Given the description of an element on the screen output the (x, y) to click on. 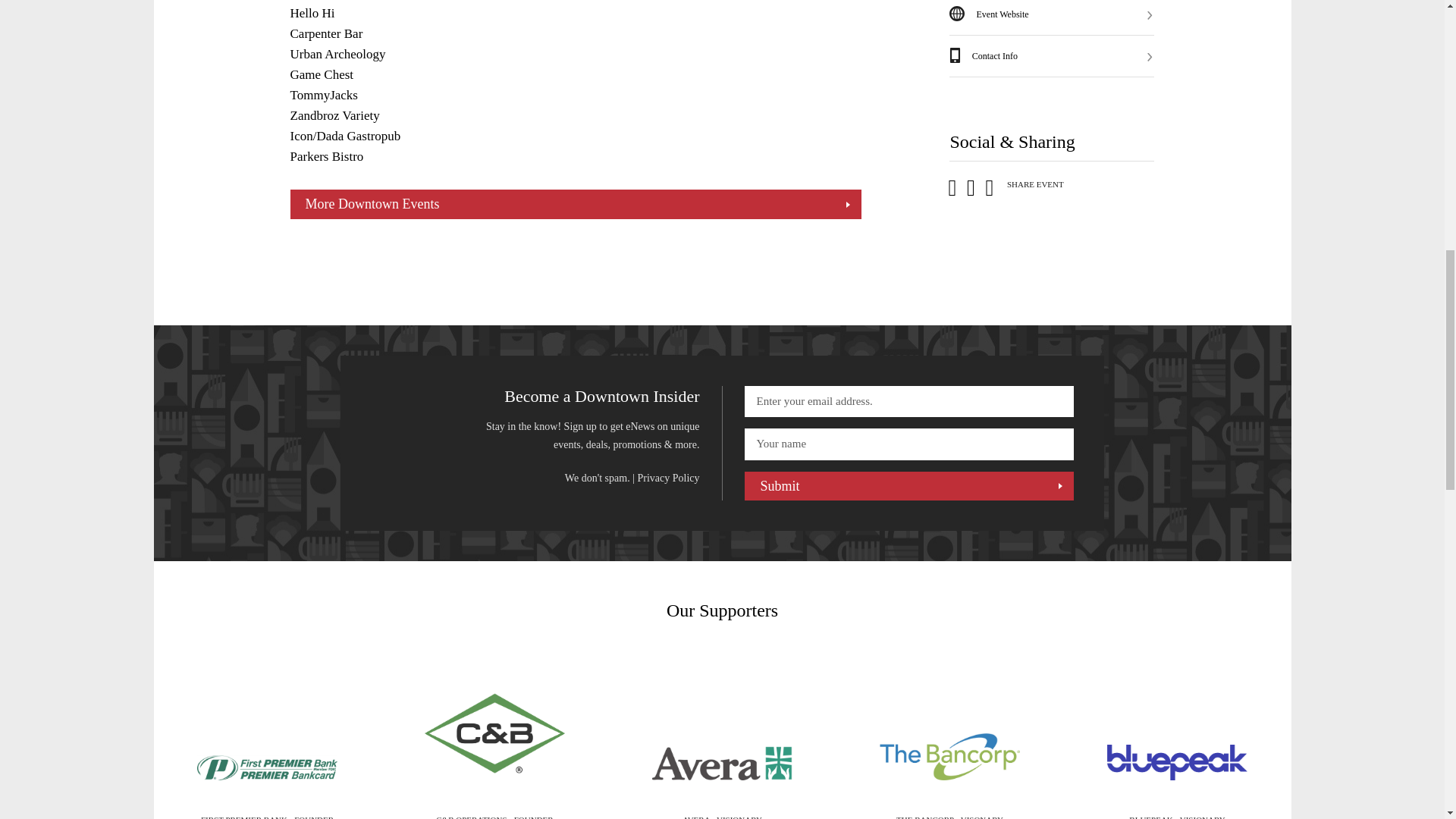
Share Event (1023, 185)
First PREMIER Bank - FOUNDER (266, 767)
The Bancorp - VISONARY (949, 756)
BluePeak - VISIONARY (1176, 761)
Avera - VISIONARY (721, 763)
